Given the description of an element on the screen output the (x, y) to click on. 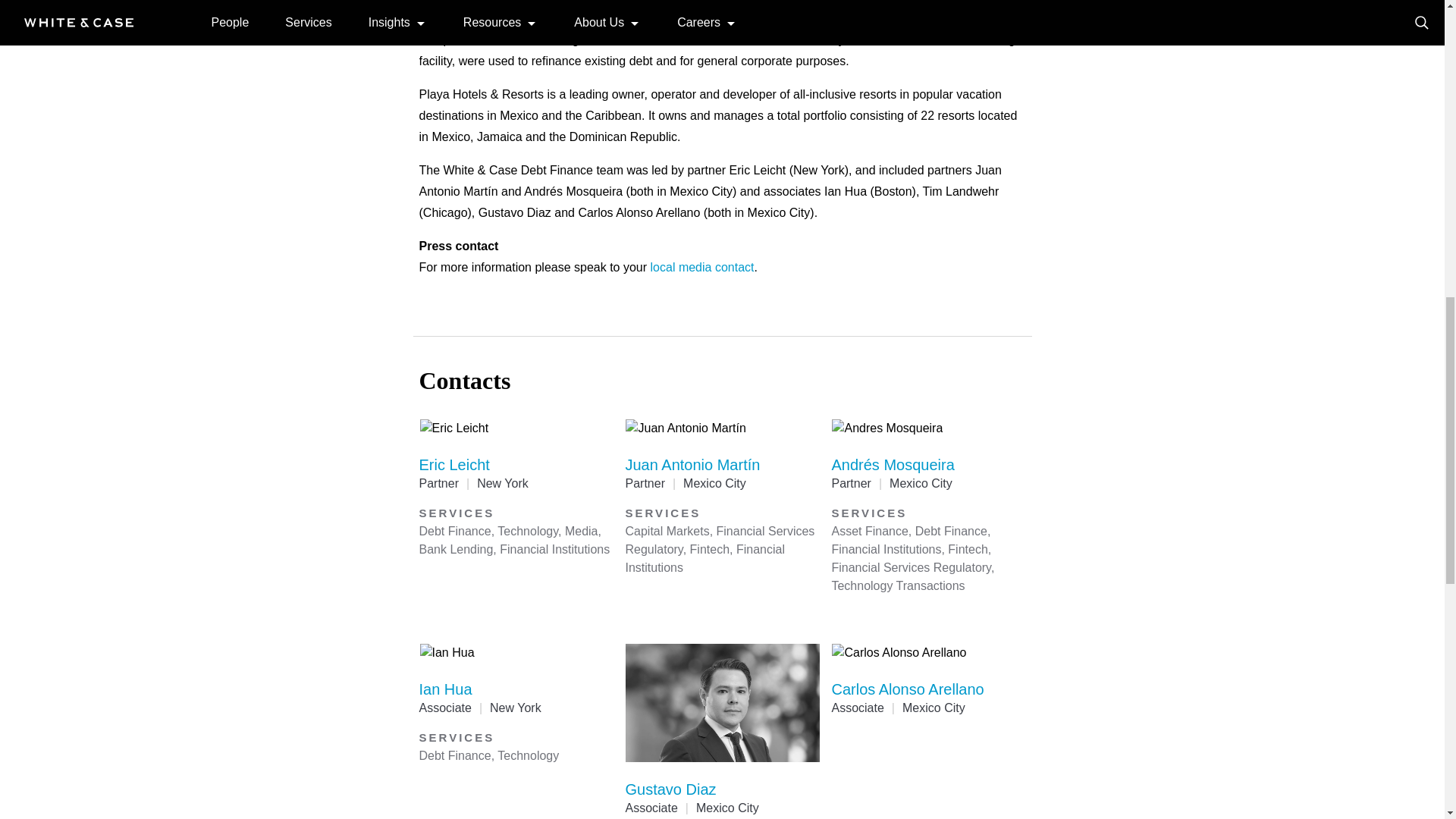
Eric Leicht (454, 464)
local media contact (702, 267)
Gustavo Diaz (670, 789)
Carlos Alonso Arellano (907, 688)
Ian Hua (445, 688)
